Given the description of an element on the screen output the (x, y) to click on. 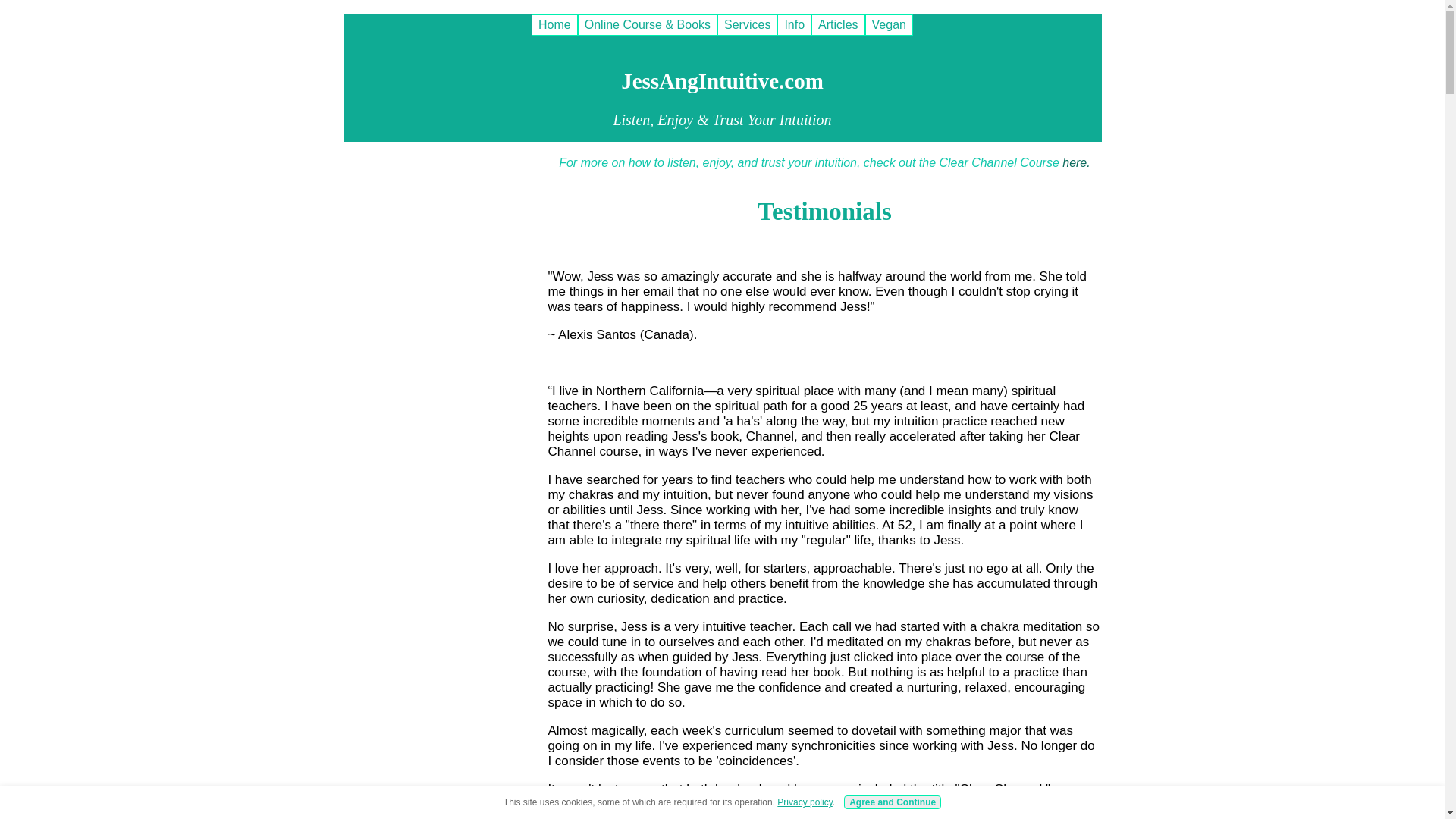
JessAngIntuitive.com (722, 80)
here. (1075, 162)
Privacy policy (804, 801)
Agree and Continue (892, 802)
Home (554, 25)
